Given the description of an element on the screen output the (x, y) to click on. 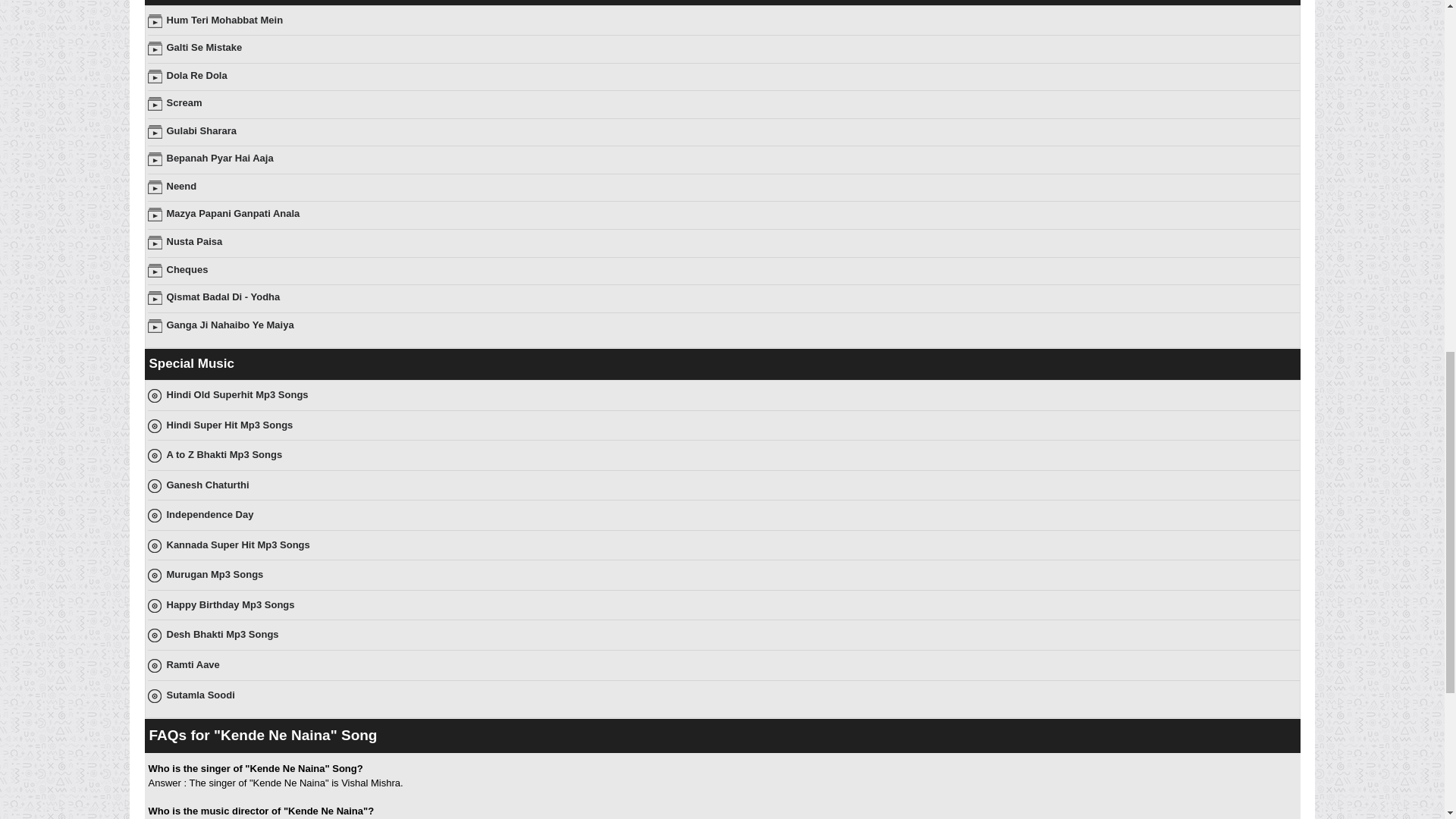
Scream (184, 102)
Independence Day (210, 514)
Qismat Badal Di - Yodha (224, 296)
Kannada Super Hit Mp3 Songs (238, 544)
Hindi Old Superhit Mp3 Songs (237, 394)
Hum Teri Mohabbat Mein (225, 19)
Scream (184, 102)
Murugan Mp3 Songs (215, 573)
Mazya Papani Ganpati Anala (233, 213)
Ganga Ji Nahaibo Ye Maiya (230, 324)
